Given the description of an element on the screen output the (x, y) to click on. 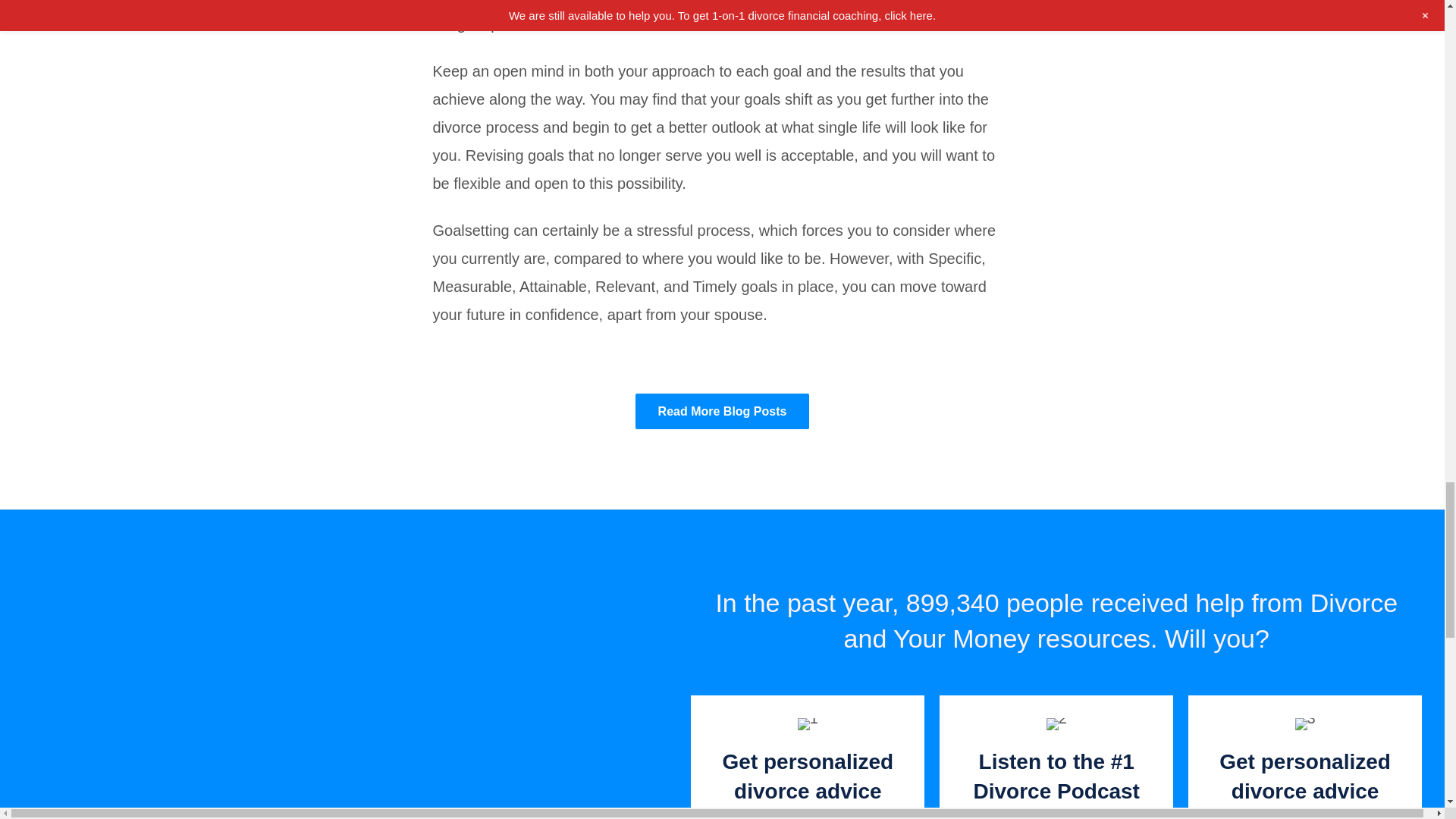
3 (1305, 724)
1 (807, 724)
2 (1056, 724)
Read More Blog Posts (721, 411)
